Given the description of an element on the screen output the (x, y) to click on. 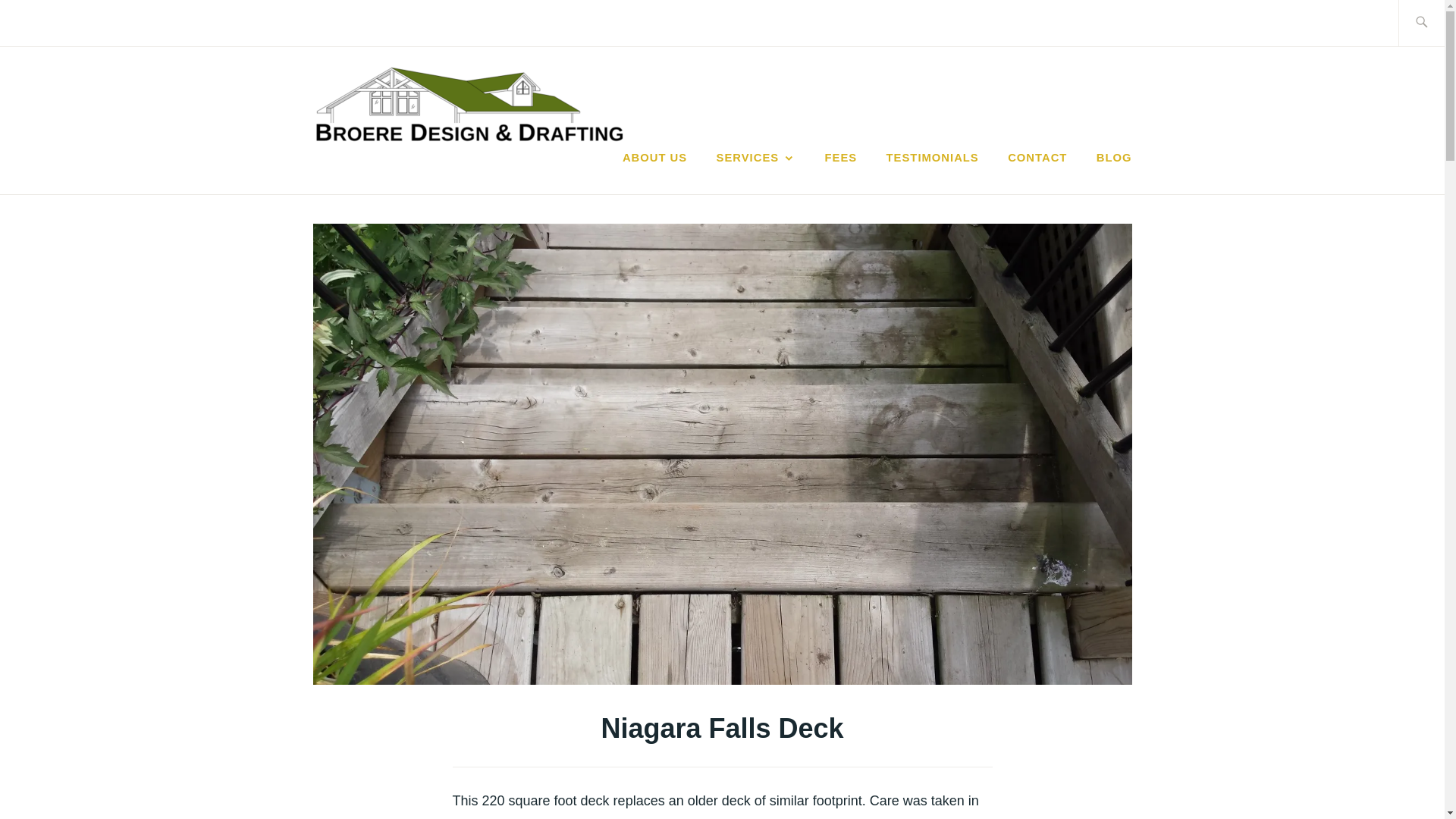
SERVICES (756, 158)
Search (47, 22)
ABOUT US (655, 158)
